Given the description of an element on the screen output the (x, y) to click on. 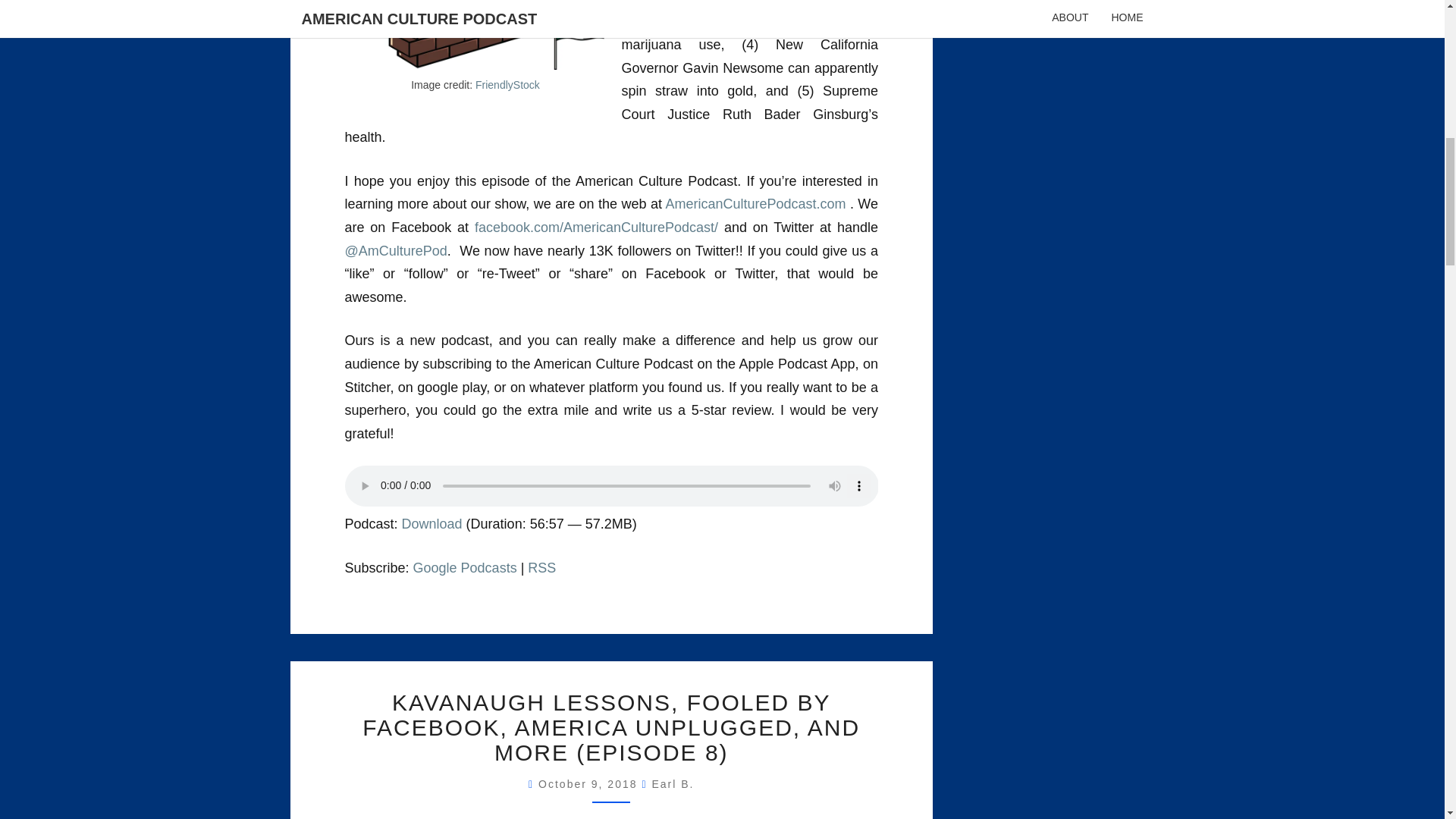
Download (432, 523)
View all posts by Earl B. (672, 784)
Google Podcasts (464, 567)
Download (432, 523)
Earl B. (672, 784)
RSS (541, 567)
5:58 am (590, 784)
Subscribe on Google Podcasts (464, 567)
FriendlyStock (508, 84)
October 9, 2018 (590, 784)
